Given the description of an element on the screen output the (x, y) to click on. 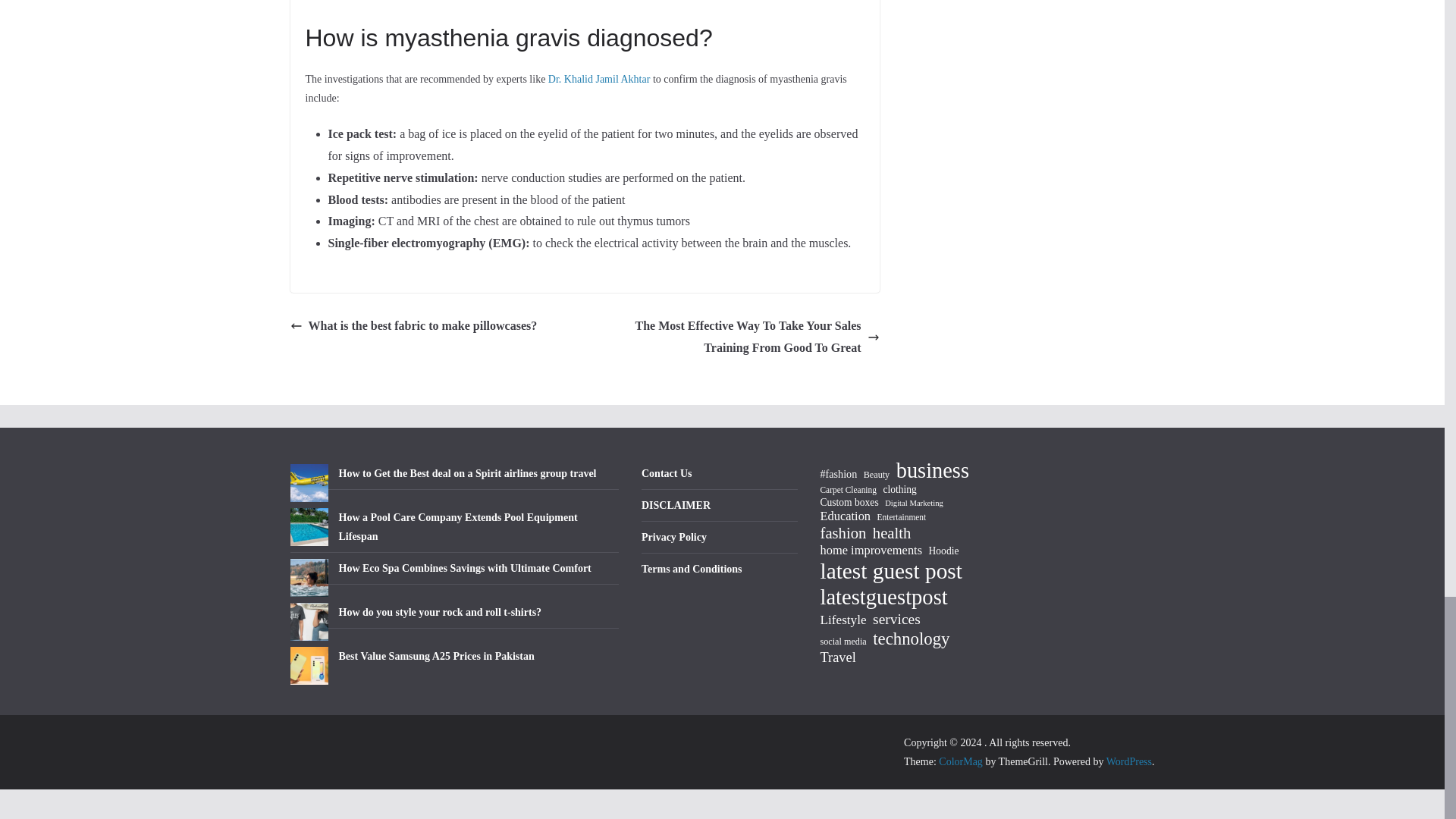
Dr. Khalid Jamil Akhtar (599, 79)
What is the best fabric to make pillowcases? (413, 326)
WordPress (1128, 761)
ColorMag (960, 761)
